Given the description of an element on the screen output the (x, y) to click on. 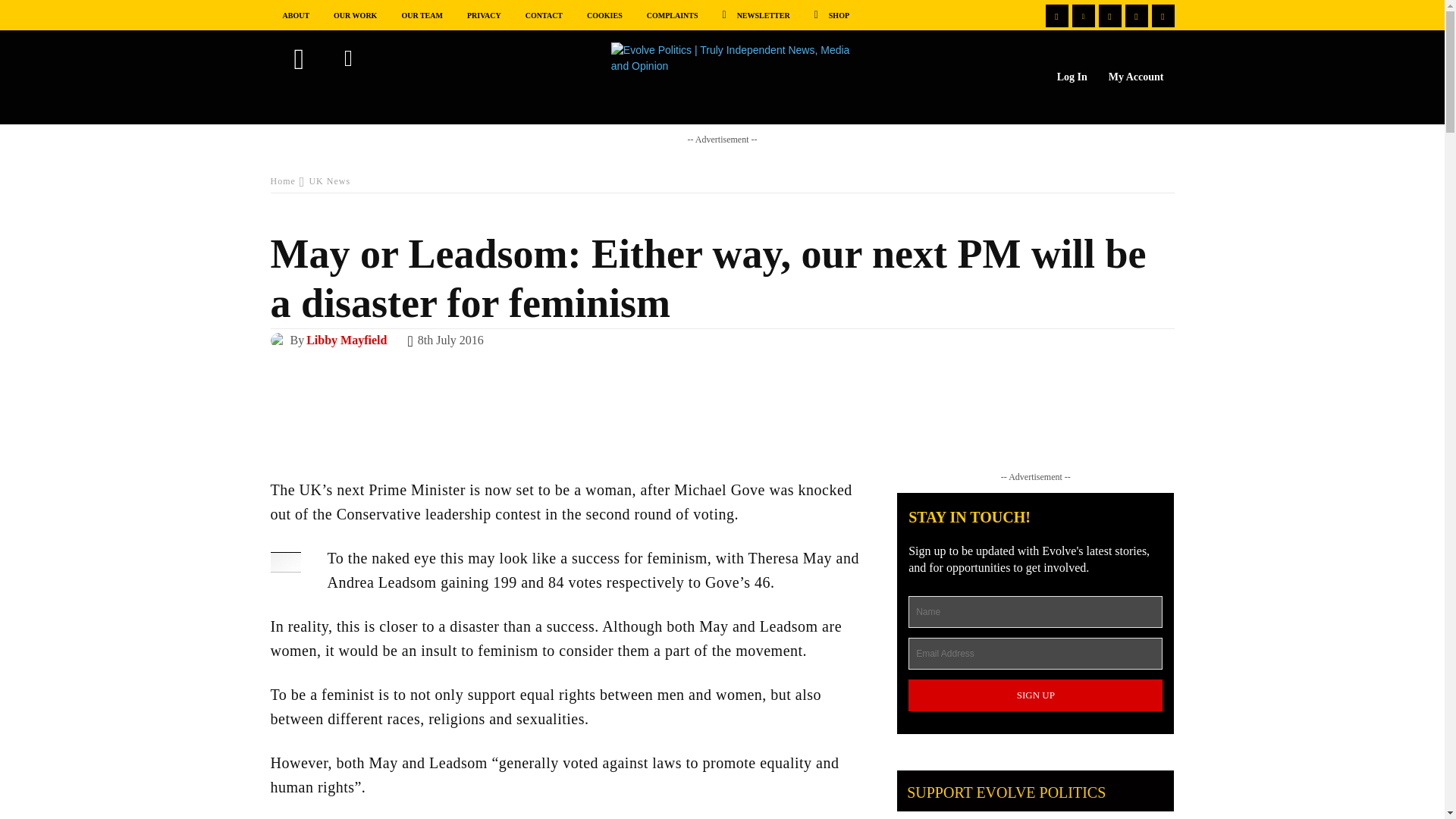
Sign Up (1034, 695)
Tiktok (1162, 15)
Facebook (1056, 15)
View all posts in UK News (329, 181)
Twitter (1082, 15)
Youtube (1109, 15)
Instagram (1136, 15)
ABOUT (295, 14)
Libby Mayfield (279, 340)
